Given the description of an element on the screen output the (x, y) to click on. 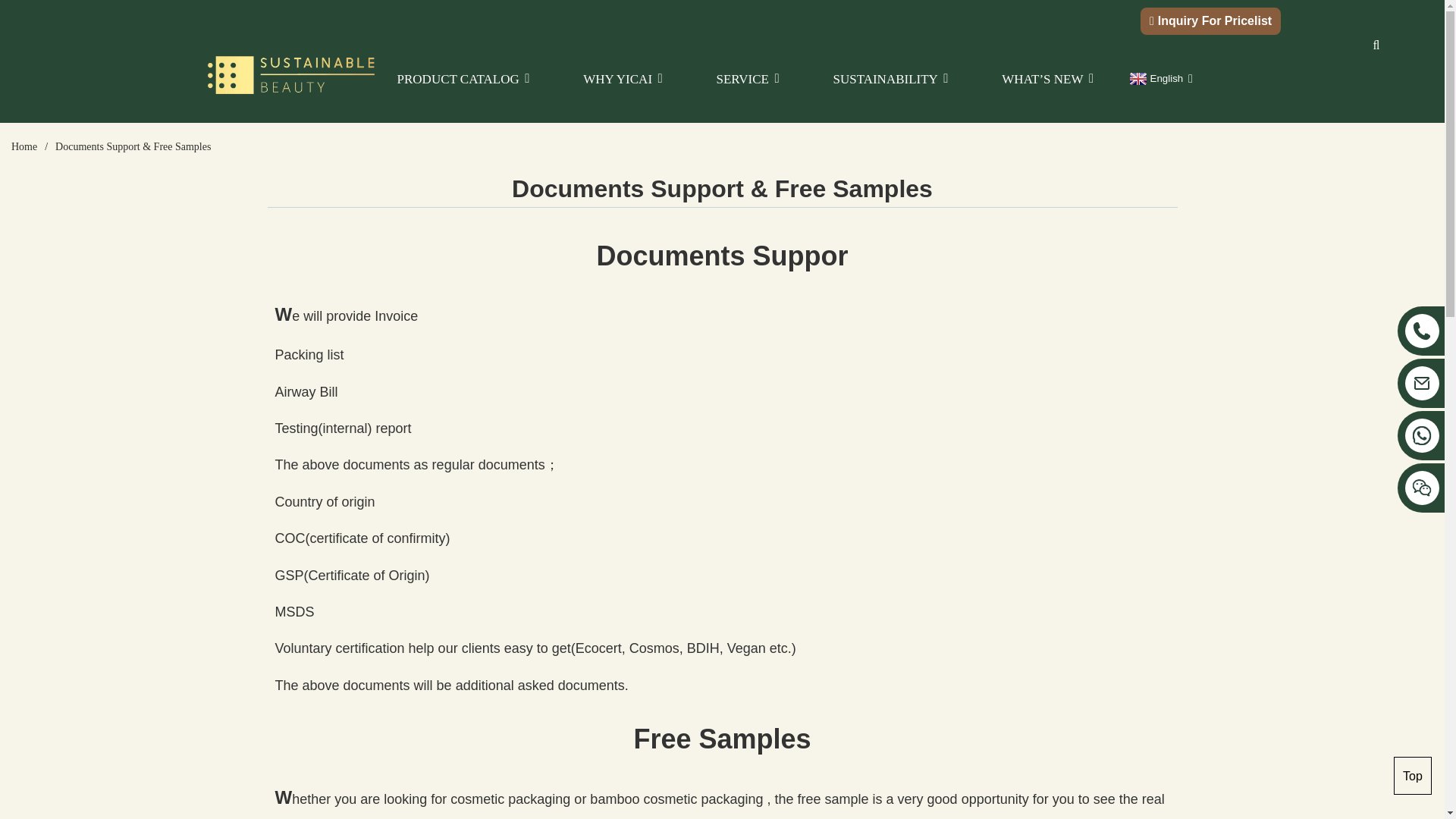
SERVICE (750, 74)
English (1153, 78)
WHY YICAI (624, 74)
PRODUCT CATALOG (465, 74)
Inquiry For Pricelist (1214, 20)
SUSTAINABILITY (892, 74)
